Given the description of an element on the screen output the (x, y) to click on. 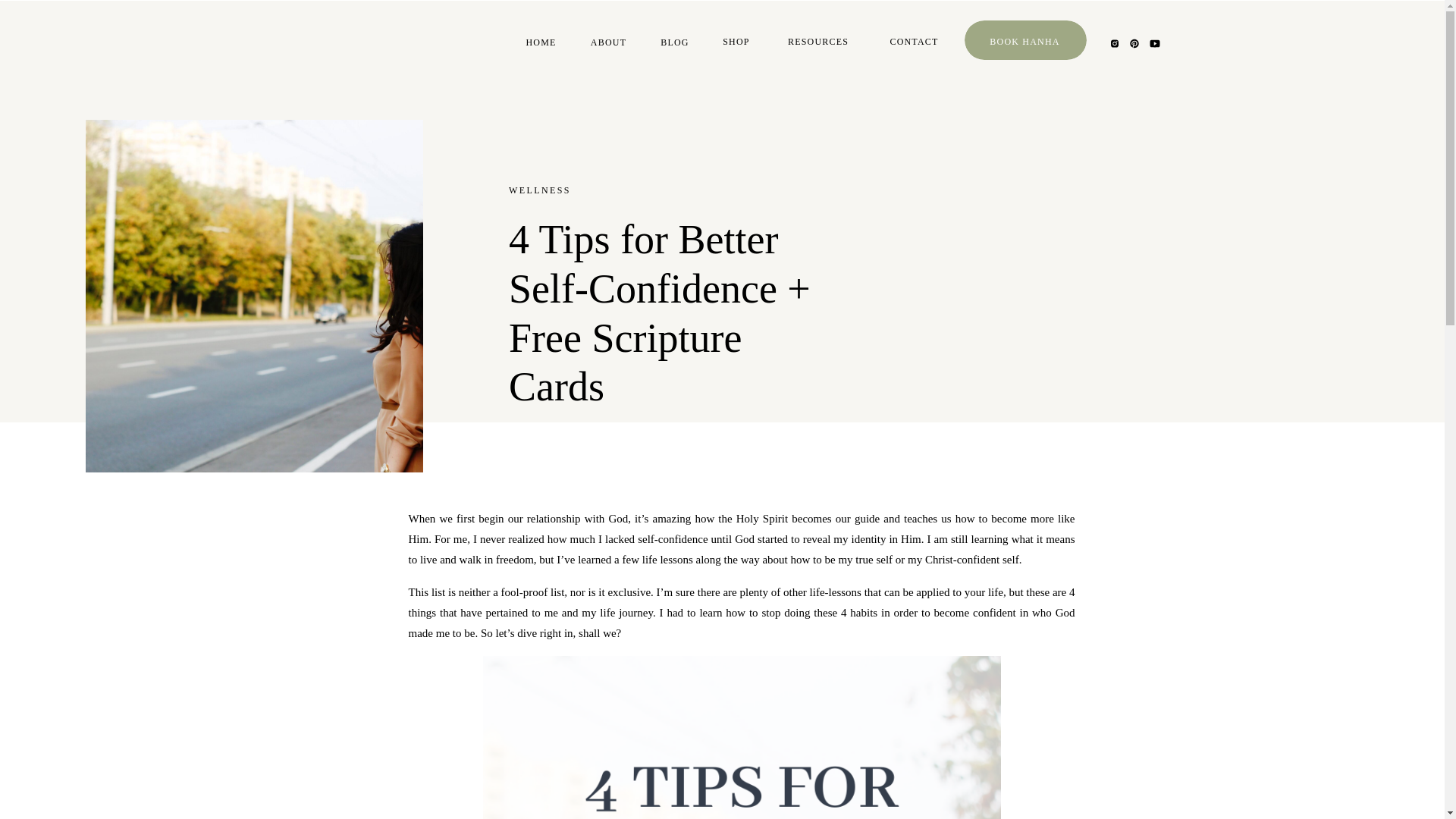
HOME (540, 44)
BOOK HANHA (1023, 44)
RESOURCES (818, 44)
SHOP (735, 44)
CONTACT (914, 44)
BLOG (674, 44)
ABOUT (608, 44)
WELLNESS (539, 190)
